Given the description of an element on the screen output the (x, y) to click on. 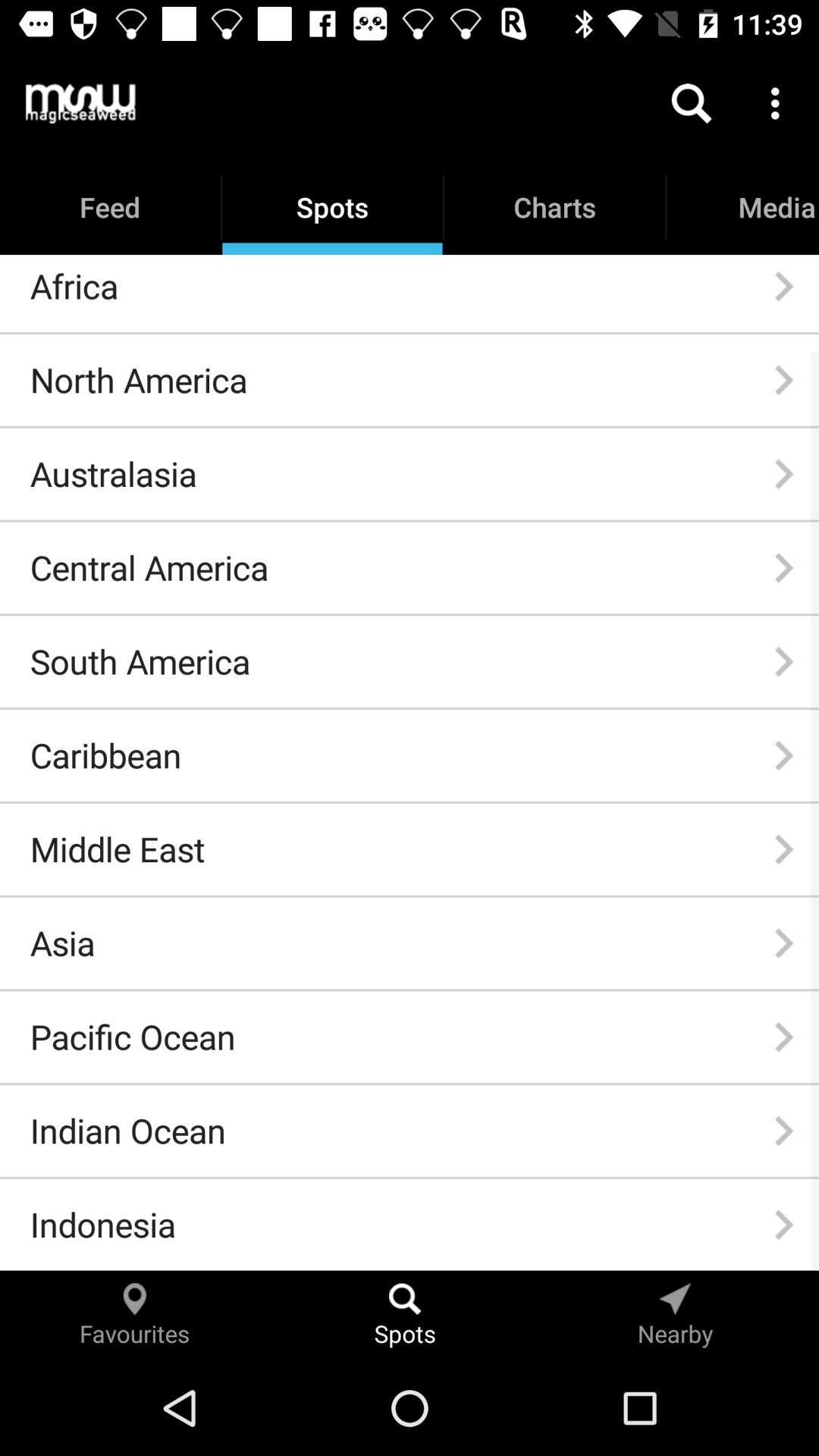
press icon next to australasia item (784, 474)
